Given the description of an element on the screen output the (x, y) to click on. 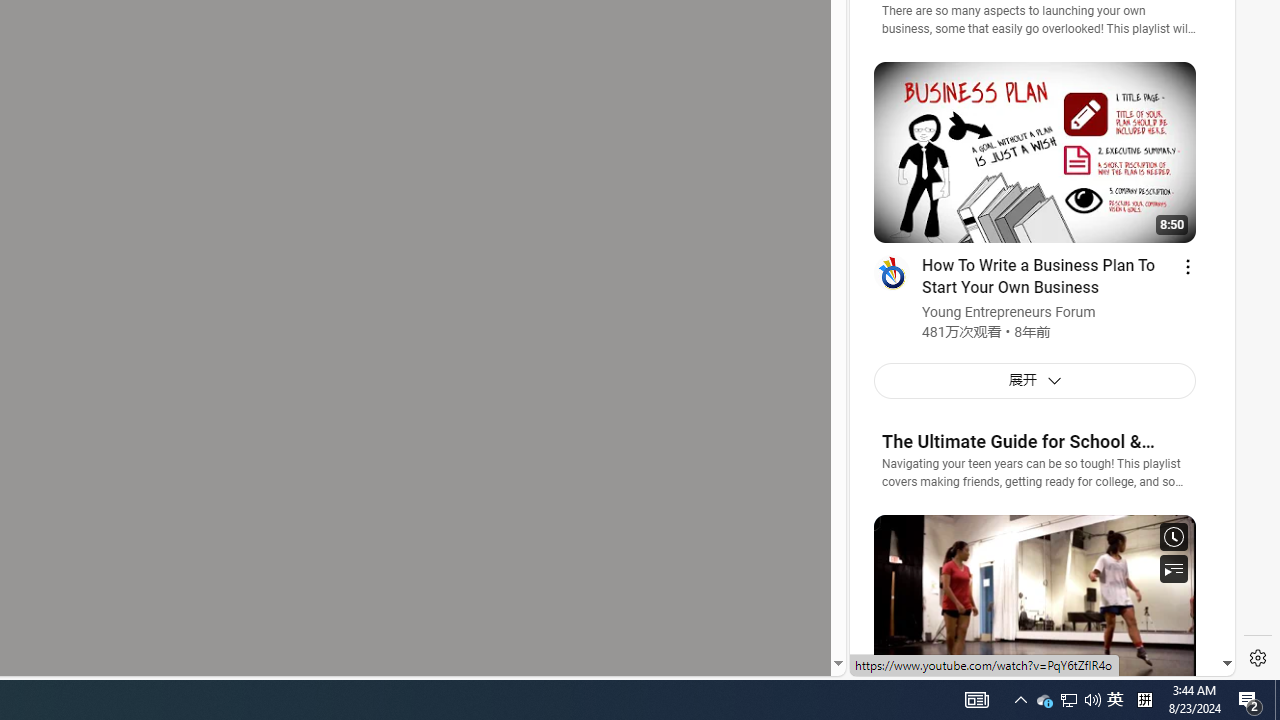
YouTube - YouTube (1034, 266)
Young Entrepreneurs Forum (1008, 313)
